Given the description of an element on the screen output the (x, y) to click on. 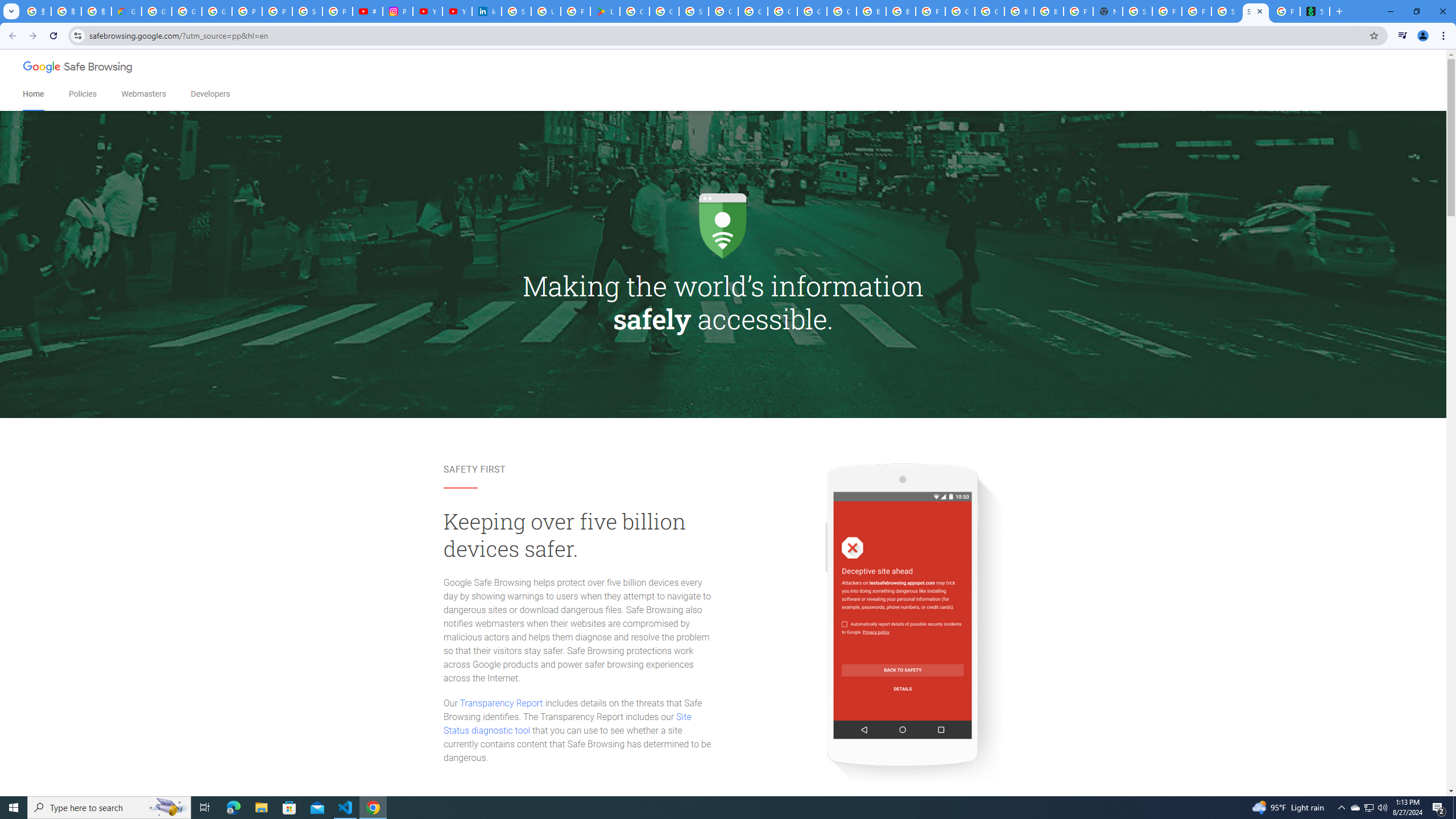
#nbabasketballhighlights - YouTube (367, 11)
Webmasters (142, 94)
Sign in - Google Accounts (693, 11)
Google Cloud Platform (959, 11)
Browse Chrome as a guest - Computer - Google Chrome Help (1018, 11)
